Given the description of an element on the screen output the (x, y) to click on. 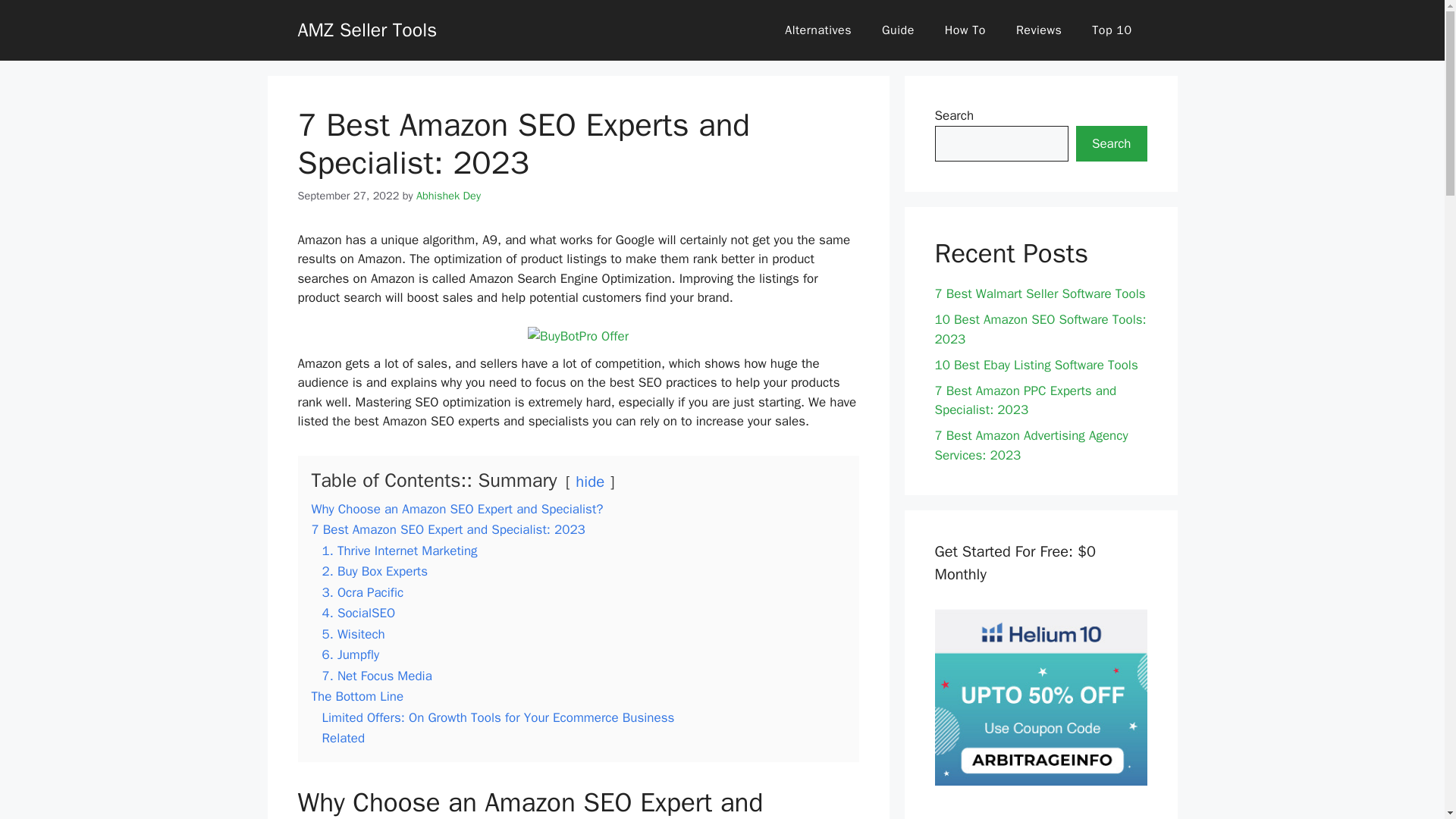
Abhishek Dey (448, 195)
2. Buy Box Experts (374, 571)
7. Net Focus Media (375, 675)
1. Thrive Internet Marketing (399, 550)
Guide (898, 30)
4. SocialSEO (357, 612)
Alternatives (818, 30)
6. Jumpfly (349, 654)
Reviews (1039, 30)
Why Choose an Amazon SEO Expert and Specialist? (456, 508)
